Given the description of an element on the screen output the (x, y) to click on. 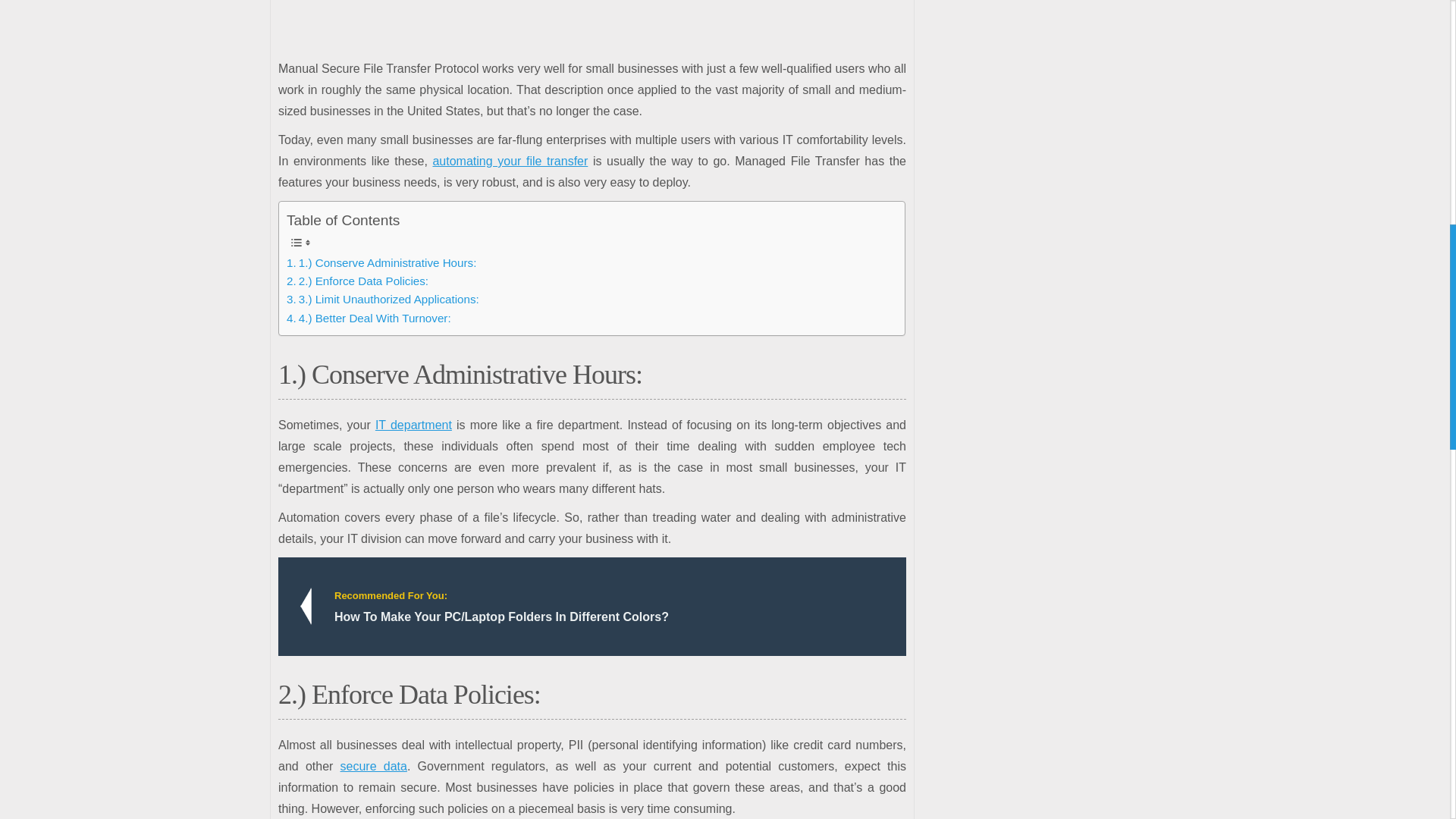
secure data (373, 766)
automating your file transfer (510, 160)
IT department (413, 424)
